Given the description of an element on the screen output the (x, y) to click on. 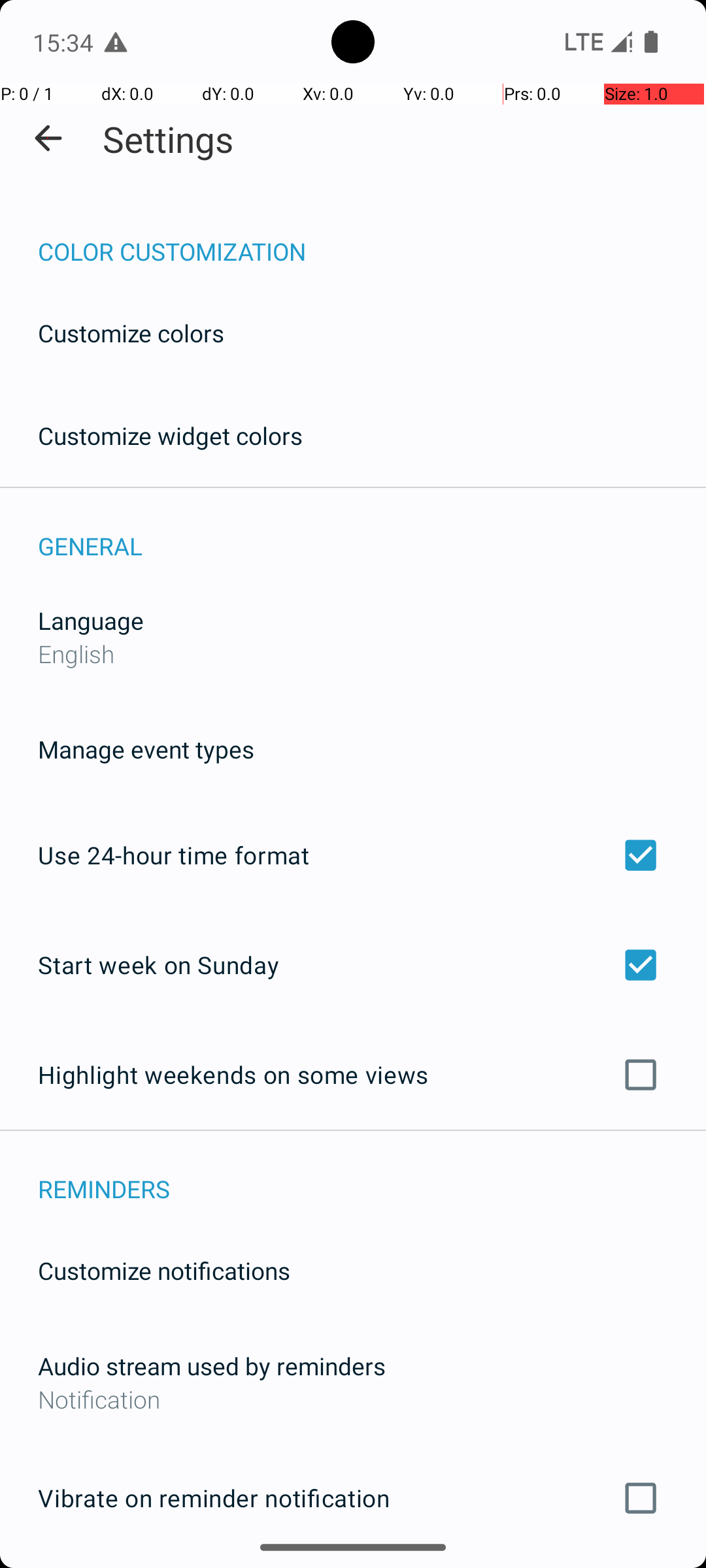
COLOR CUSTOMIZATION Element type: android.widget.TextView (371, 237)
REMINDERS Element type: android.widget.TextView (371, 1174)
Customize colors Element type: android.widget.TextView (130, 332)
Customize widget colors Element type: android.widget.TextView (170, 435)
English Element type: android.widget.TextView (75, 653)
Use 24-hour time format Element type: android.widget.CheckBox (352, 855)
Start week on Sunday Element type: android.widget.CheckBox (352, 964)
Highlight weekends on some views Element type: android.widget.CheckBox (352, 1074)
Customize notifications Element type: android.widget.TextView (163, 1270)
Audio stream used by reminders Element type: android.widget.TextView (211, 1365)
Vibrate on reminder notification Element type: android.widget.CheckBox (352, 1497)
Loop reminders until dismissed Element type: android.widget.CheckBox (352, 1567)
